Given the description of an element on the screen output the (x, y) to click on. 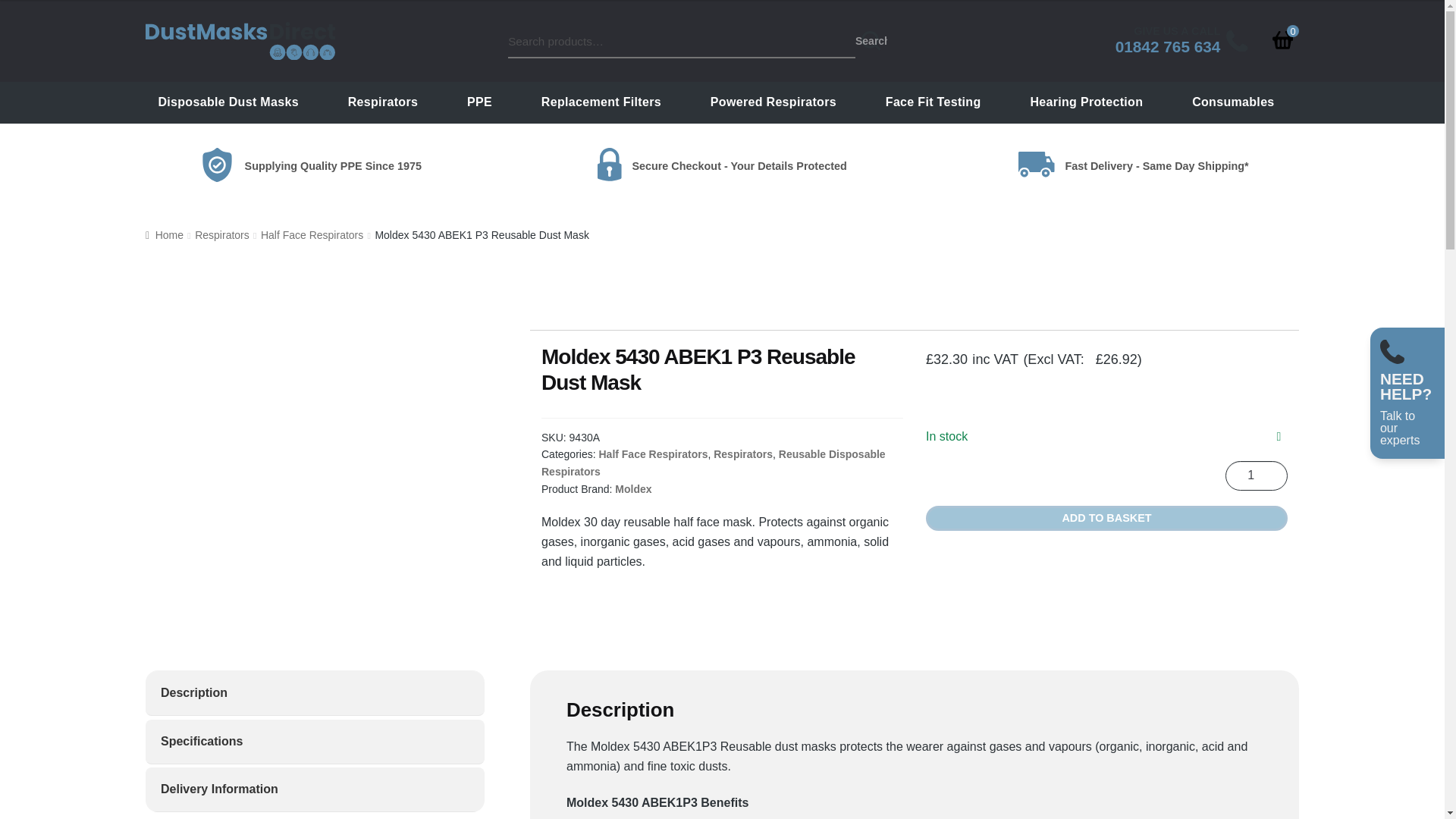
Consumables (1232, 101)
Replacement Filters (600, 101)
0 items (1282, 40)
View your shopping basket (1282, 40)
Powered Respirators (772, 101)
1 (1256, 475)
PPE (479, 101)
Search (871, 40)
Hearing Protection (1086, 101)
Disposable Dust Masks (228, 101)
Moldex (913, 295)
Face Fit Testing (933, 101)
Respirators (1185, 41)
